Given the description of an element on the screen output the (x, y) to click on. 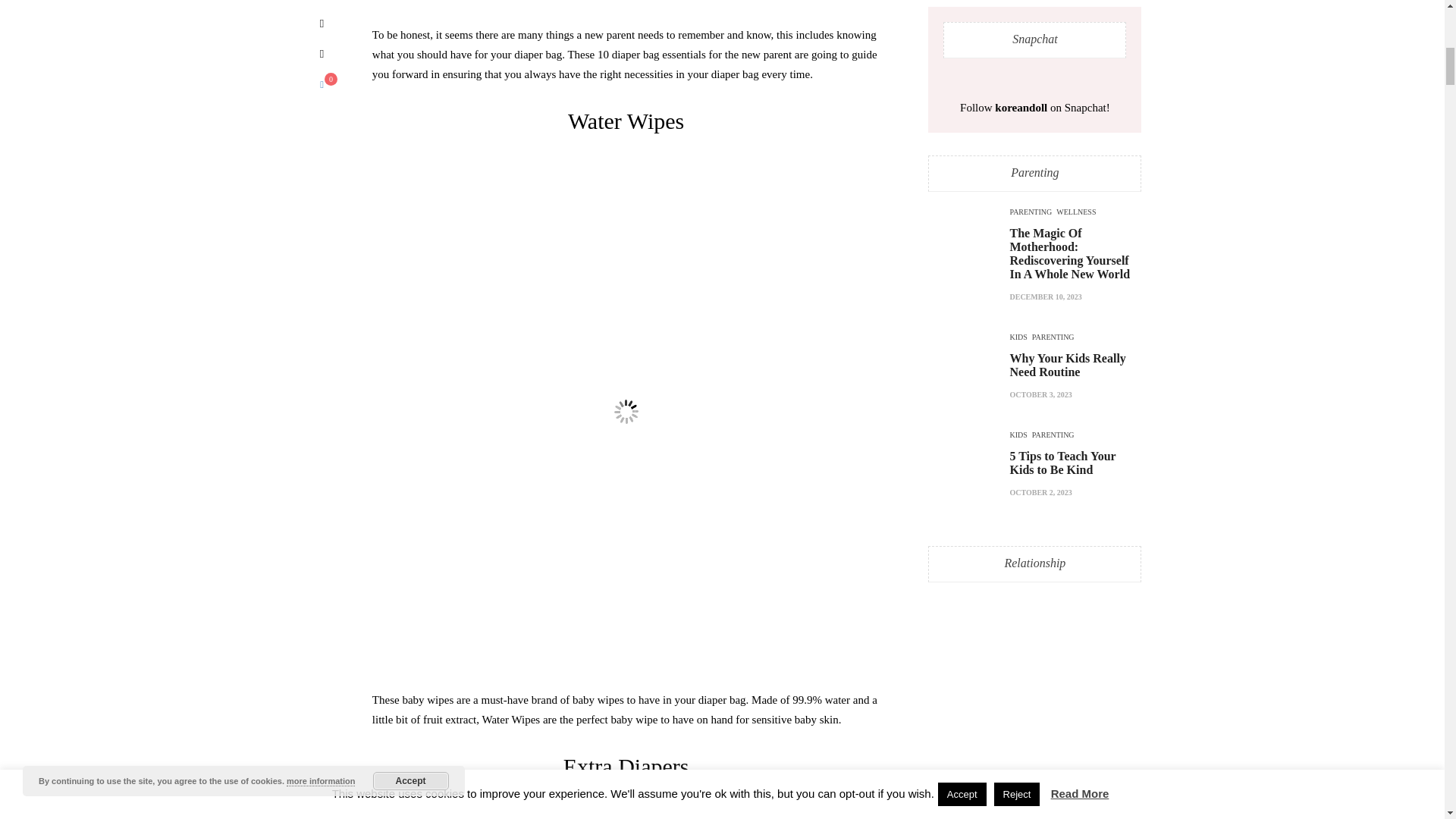
5 Tips to Teach Your Kids to Be Kind (1063, 460)
Why Your Kids Really Need Routine (1067, 362)
